Given the description of an element on the screen output the (x, y) to click on. 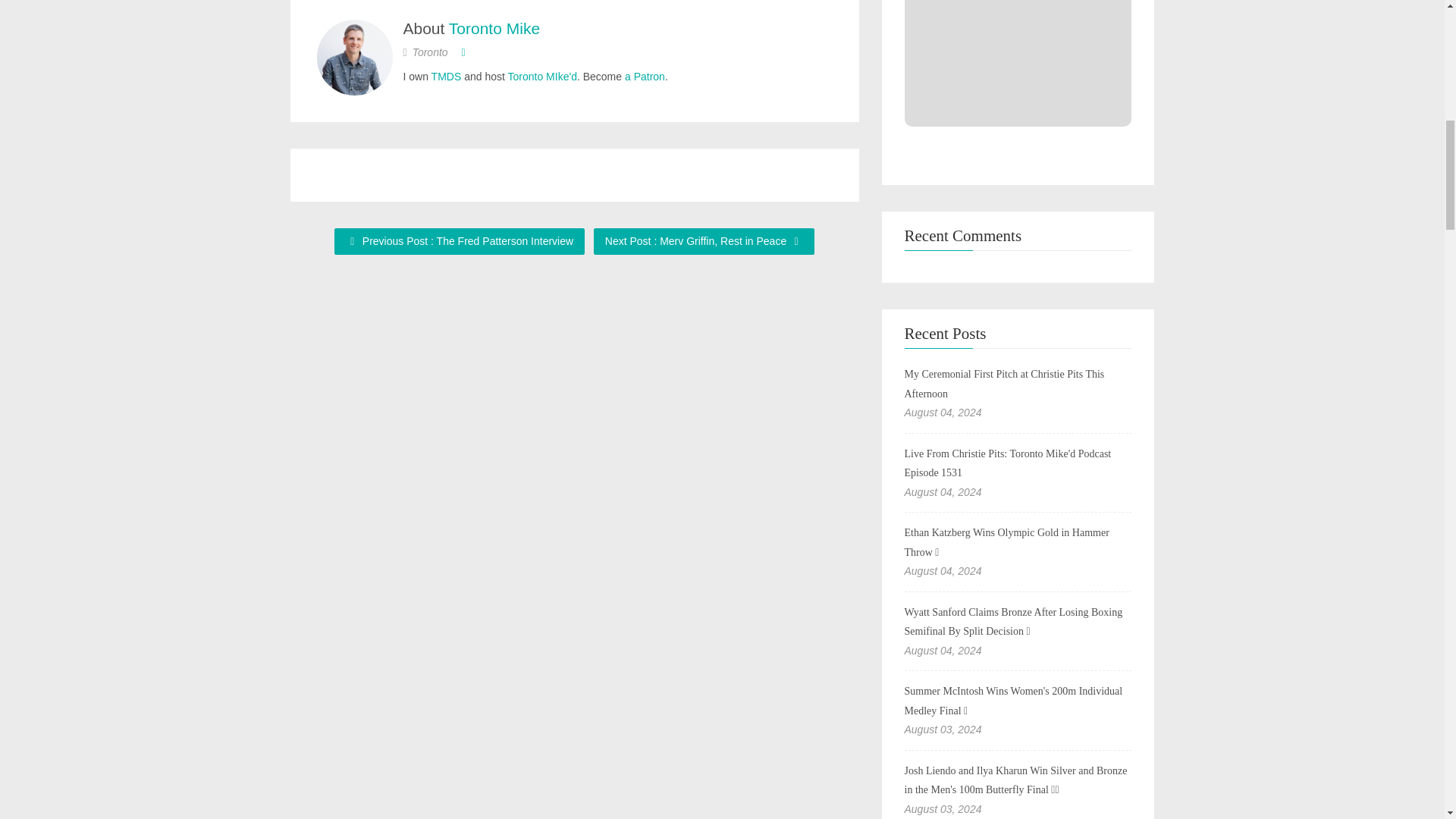
Live From Christie Pits: Toronto Mike'd Podcast Episode 1531 (1007, 463)
TMDS (445, 75)
My Ceremonial First Pitch at Christie Pits This Afternoon (1003, 383)
Toronto MIke'd (542, 75)
a Patron (644, 75)
Toronto Mike (494, 27)
Previous Post : The Fred Patterson Interview (459, 240)
Next Post : Merv Griffin, Rest in Peace (703, 240)
